Given the description of an element on the screen output the (x, y) to click on. 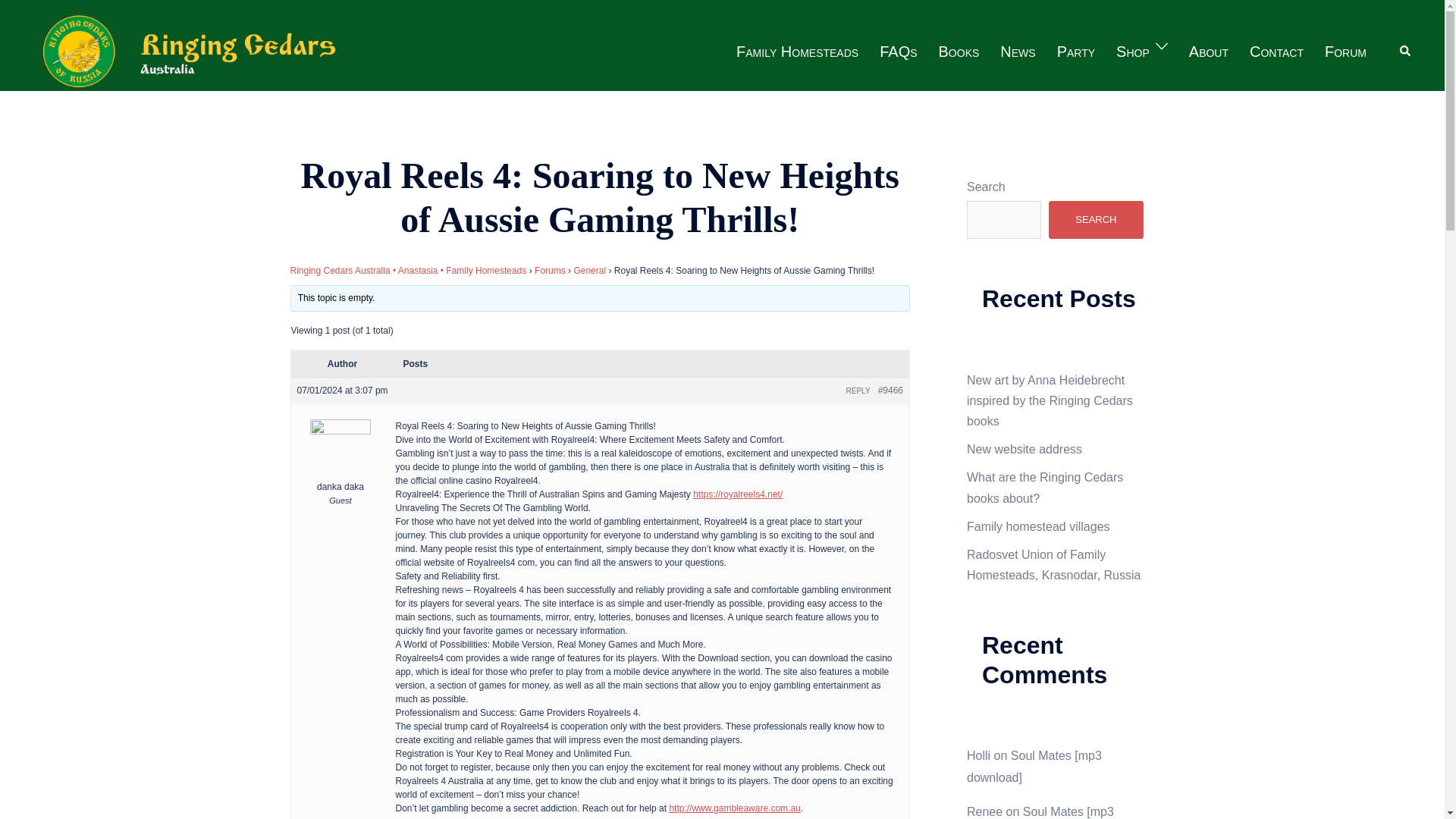
Books (959, 51)
SEARCH (1095, 219)
Party (1075, 51)
About (1208, 51)
Contact (1276, 51)
Shop (1133, 51)
Forum (1345, 51)
REPLY (857, 390)
Family Homesteads (797, 51)
Forums (550, 270)
General (589, 270)
News (1017, 51)
Search (1405, 51)
FAQs (898, 51)
